Given the description of an element on the screen output the (x, y) to click on. 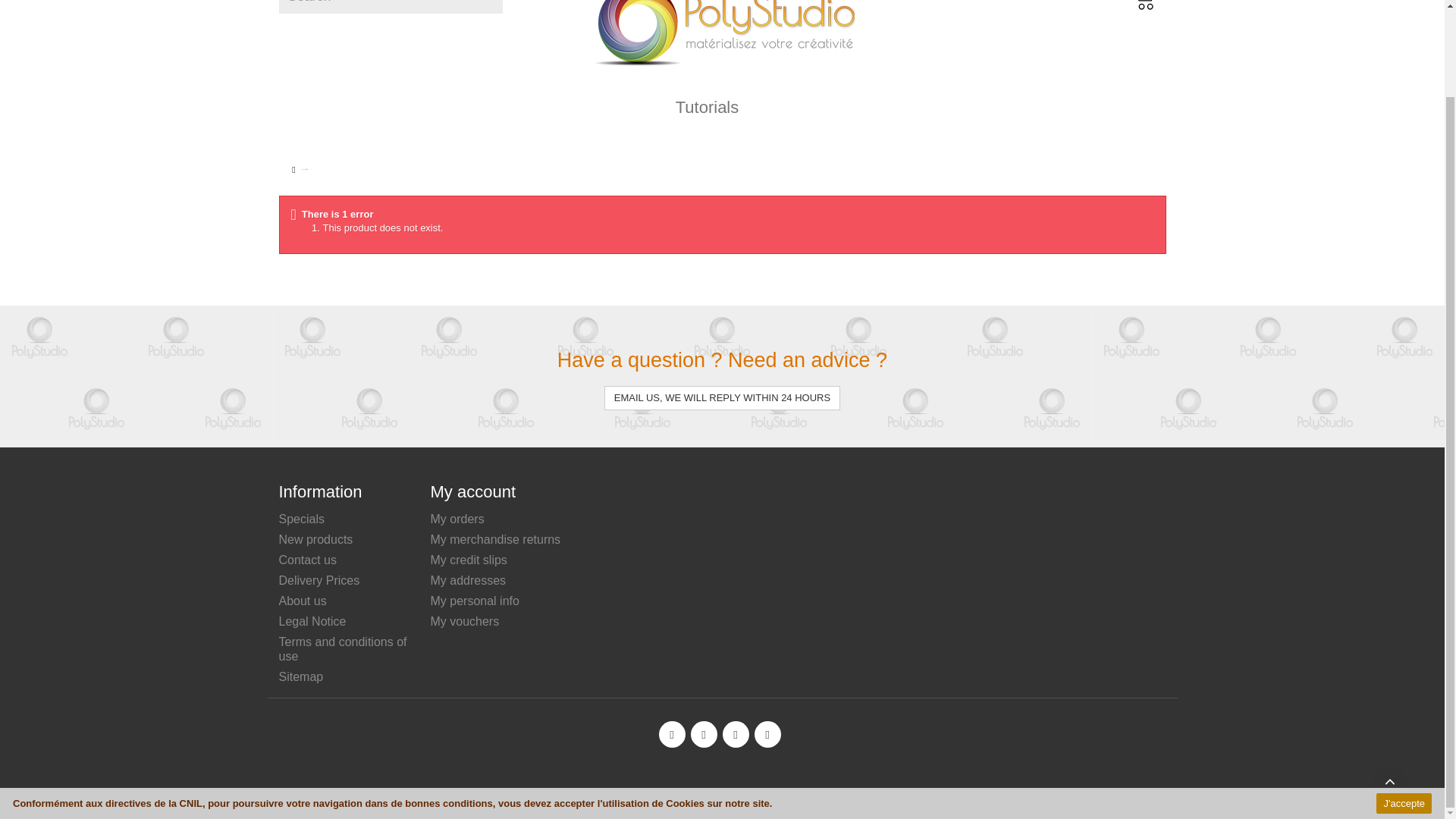
View my shopping cart (1141, 12)
Sitemap (301, 676)
0 (1141, 12)
About us (302, 600)
Terms and conditions of use (343, 648)
Sitemap (301, 676)
My credit slips (468, 559)
Return to Home (293, 169)
Contact us (307, 559)
J'accepte (1403, 704)
My merchandise returns (495, 539)
My personal info (474, 600)
Legal Notice (312, 621)
PolyStudio (720, 36)
New products (316, 539)
